Given the description of an element on the screen output the (x, y) to click on. 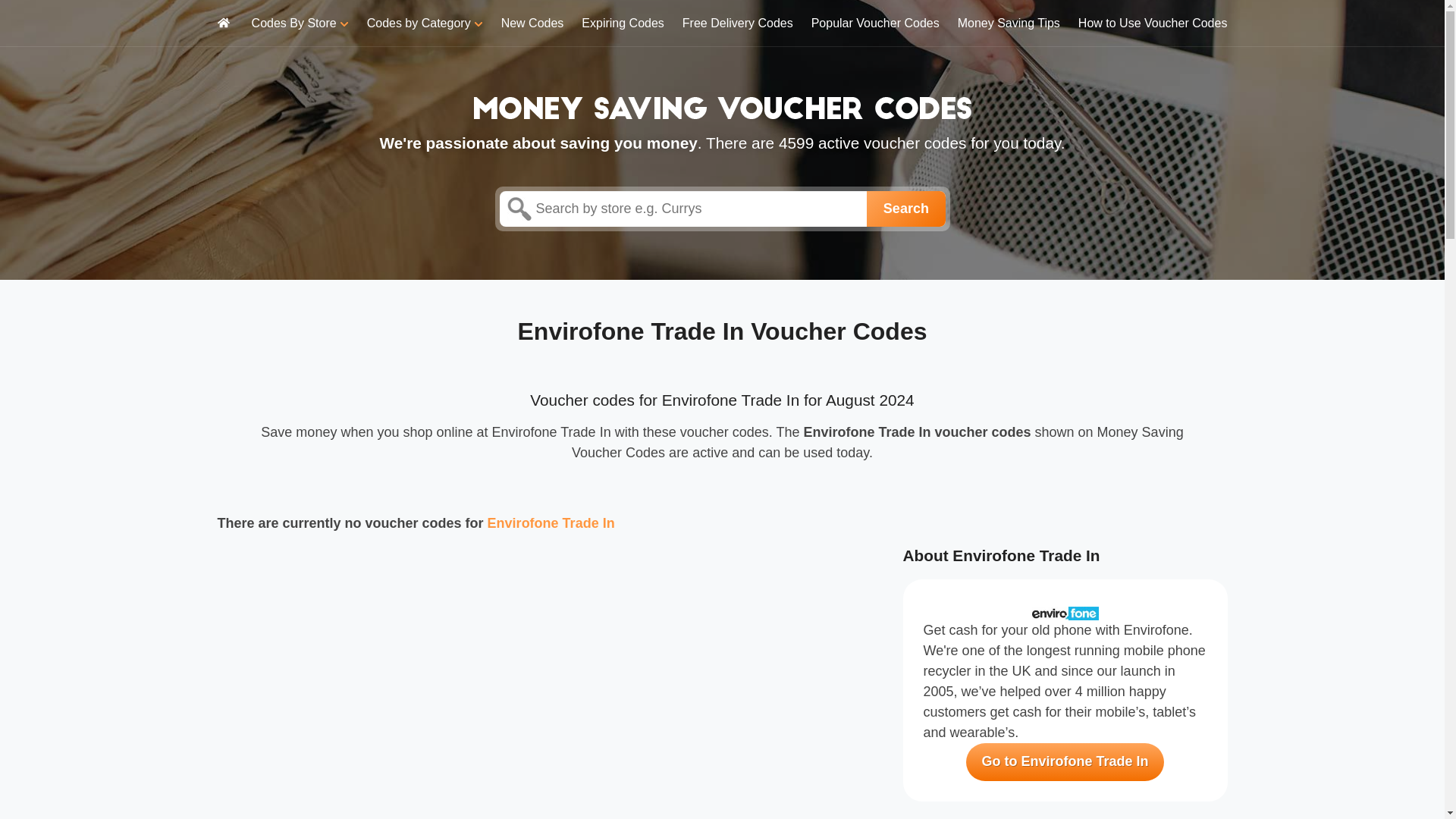
Expiring Codes (622, 22)
How to Use Voucher Codes (1152, 22)
Free Delivery Codes (738, 22)
Codes by Category (425, 22)
New Codes (532, 22)
Visit our Homepage (722, 106)
Envirofone Trade In (550, 522)
Search (905, 208)
Popular Voucher Codes (874, 22)
Go to Envirofone Trade In (1064, 761)
Money Saving Tips (1008, 22)
Codes By Store (300, 22)
Search (905, 208)
